Given the description of an element on the screen output the (x, y) to click on. 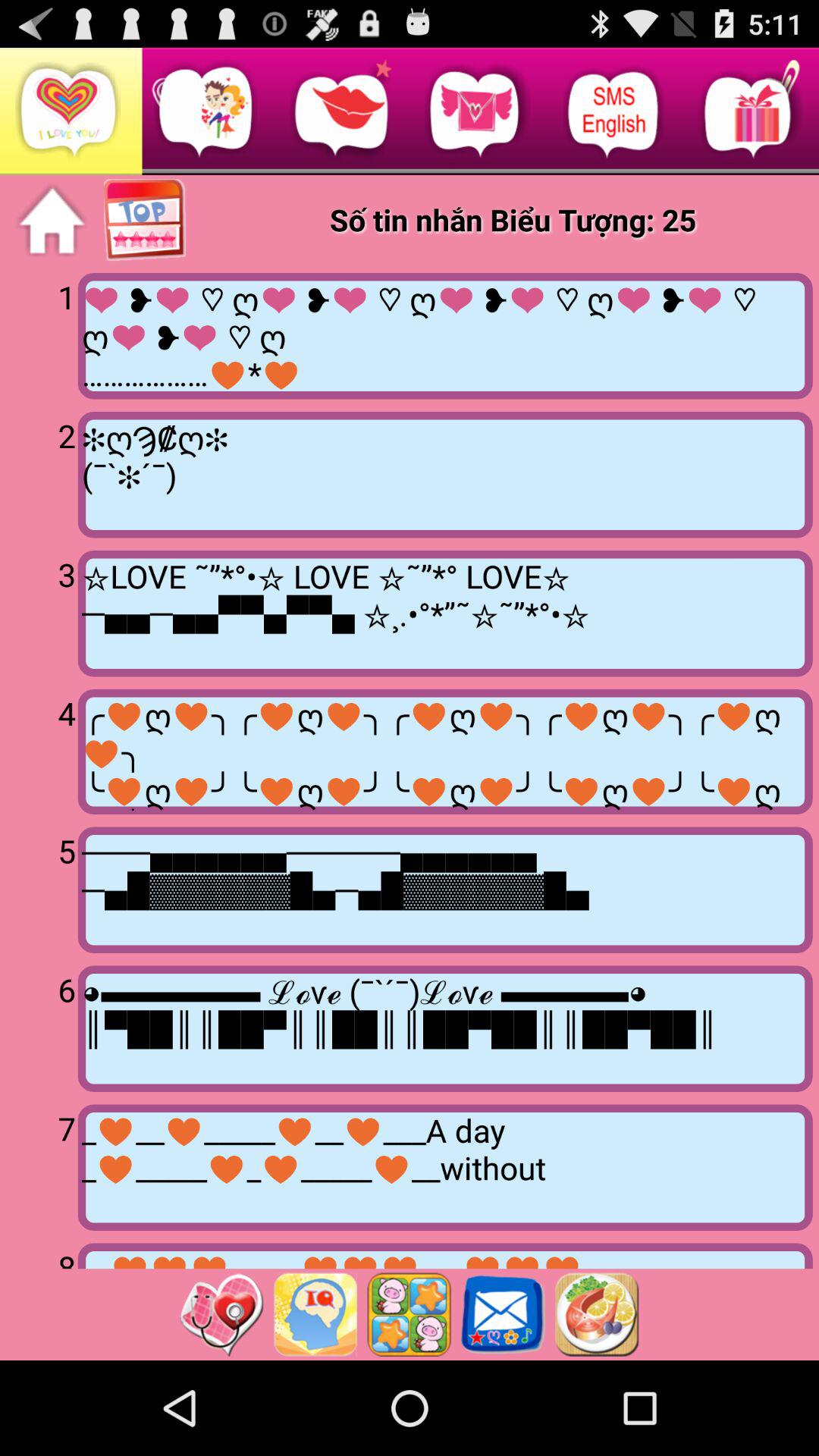
open home (51, 220)
